Given the description of an element on the screen output the (x, y) to click on. 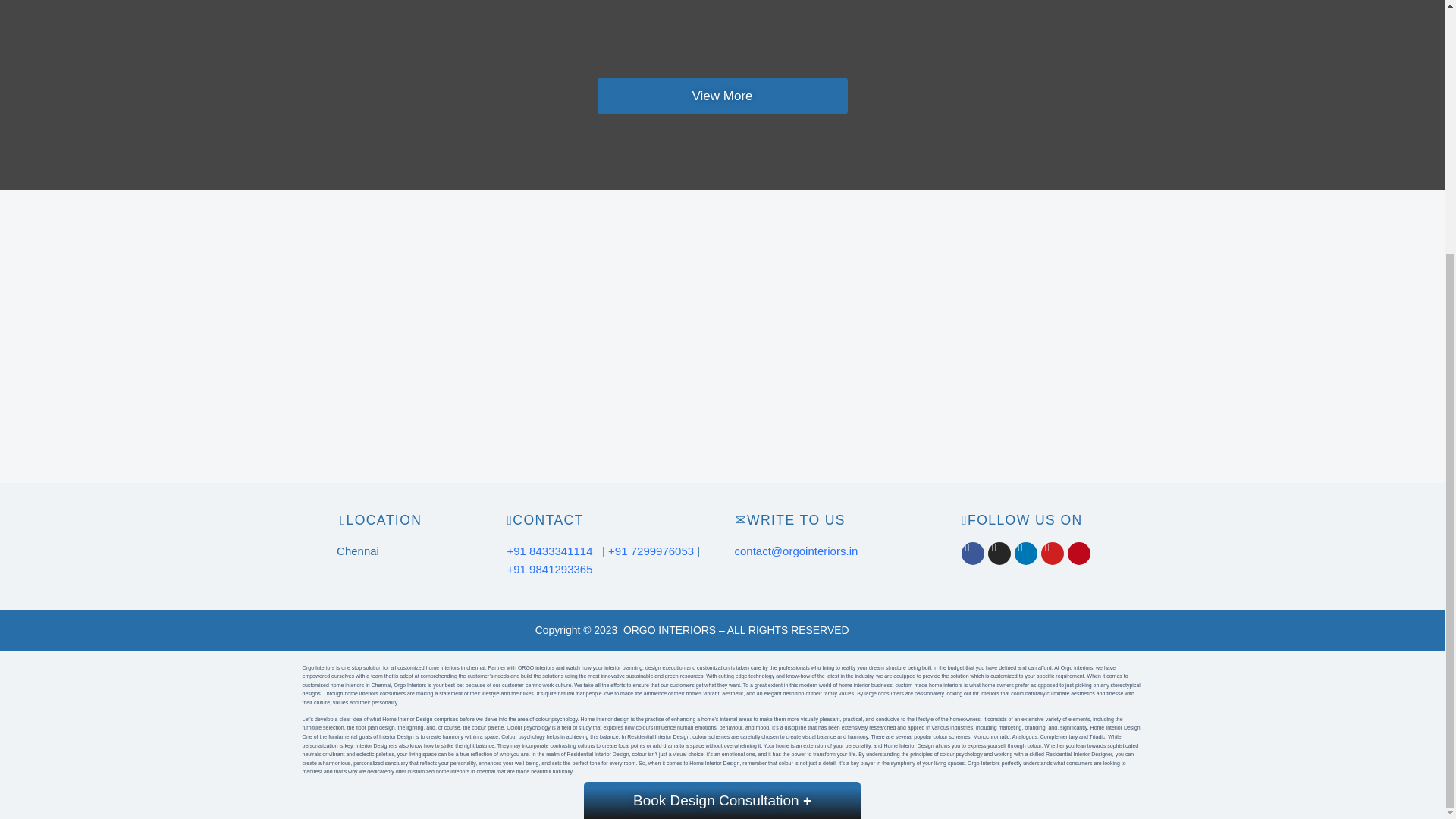
View More (721, 95)
